Given the description of an element on the screen output the (x, y) to click on. 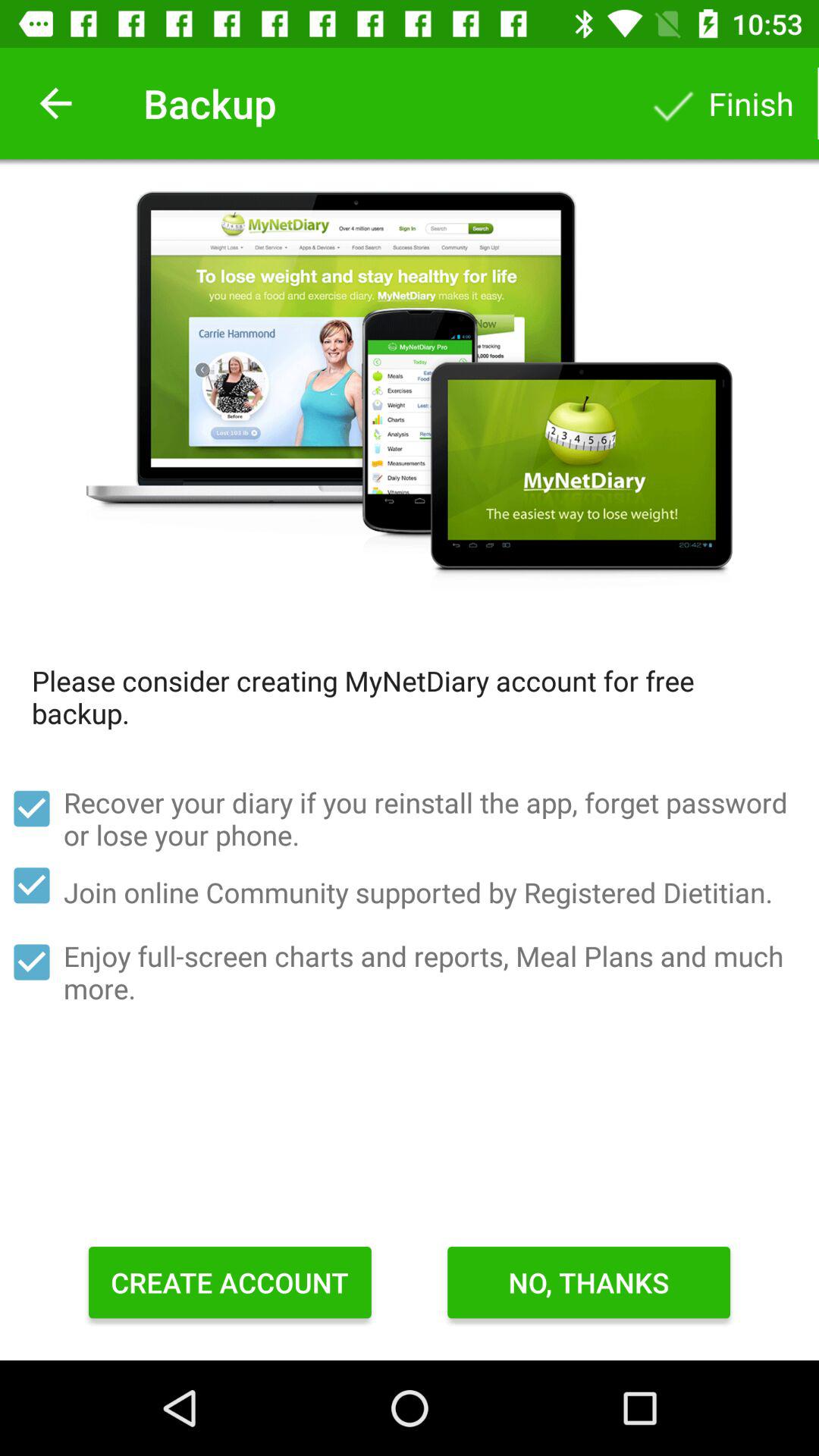
select no, thanks item (588, 1282)
